Given the description of an element on the screen output the (x, y) to click on. 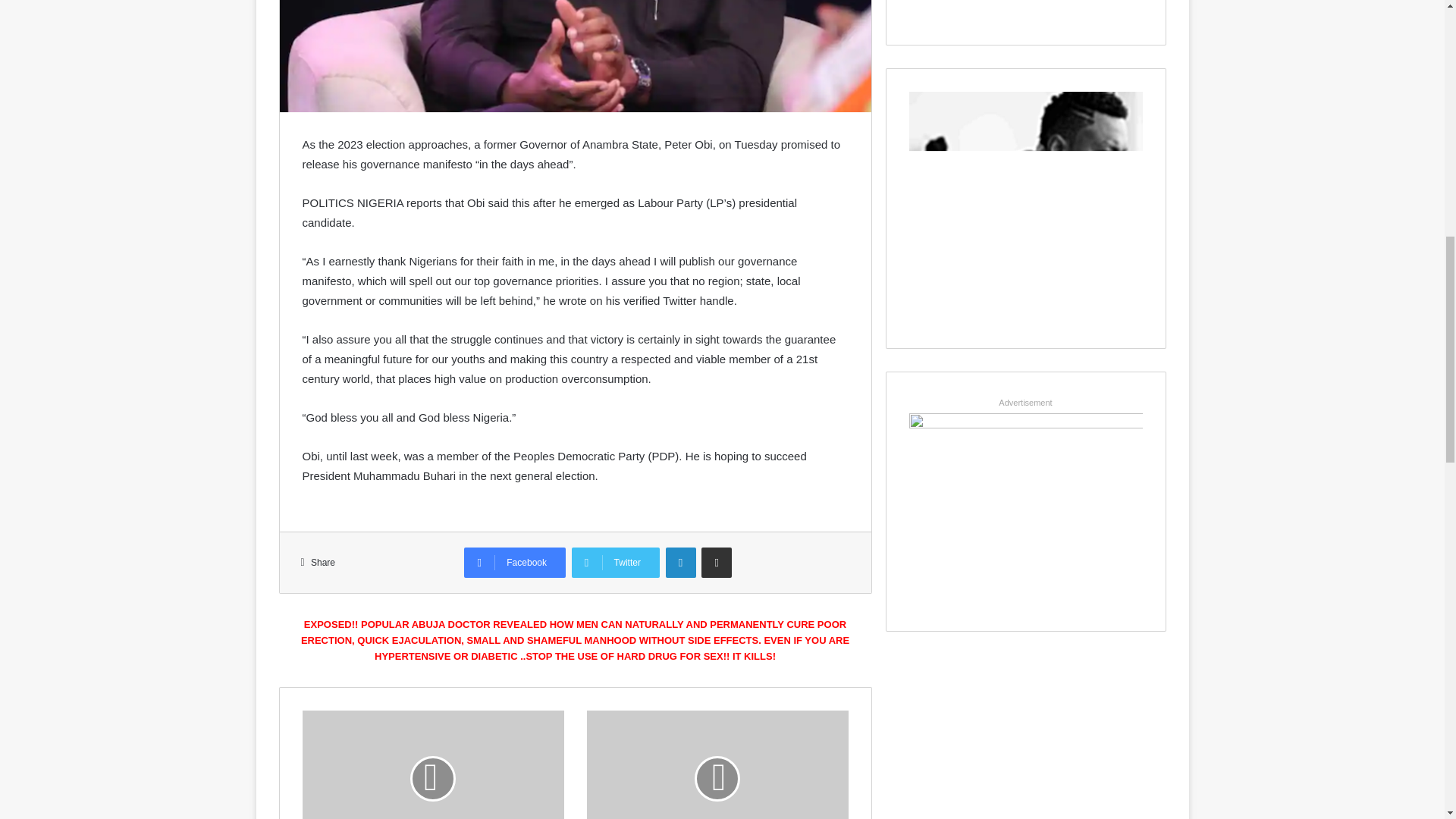
Twitter (615, 562)
Share via Email (716, 562)
Facebook (515, 562)
Twitter (615, 562)
LinkedIn (680, 562)
Facebook (515, 562)
LinkedIn (680, 562)
Share via Email (716, 562)
